Given the description of an element on the screen output the (x, y) to click on. 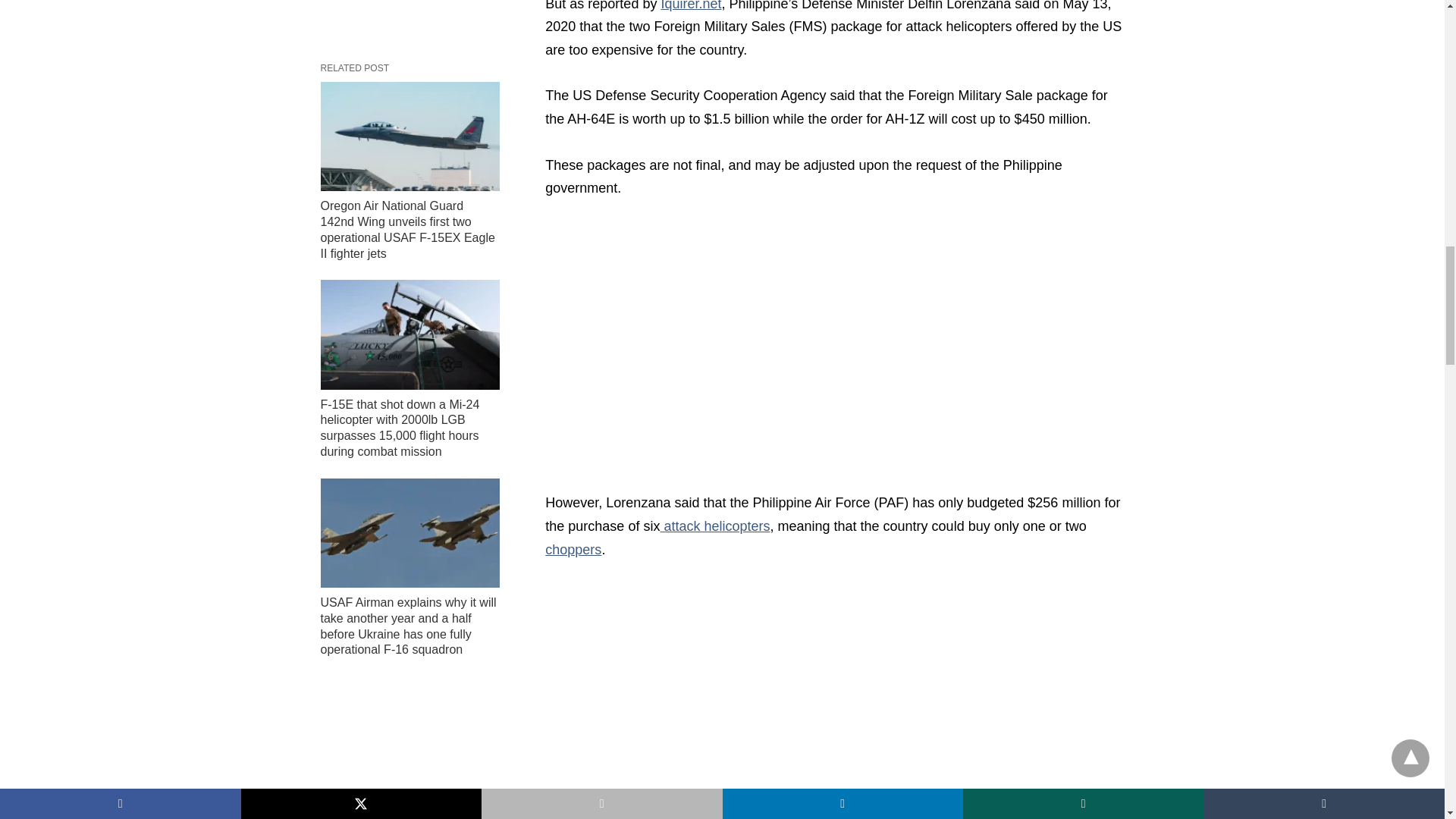
Iquirer.net (690, 5)
3rd party ad content (409, 13)
choppers (572, 549)
attack helicopters (714, 525)
